Given the description of an element on the screen output the (x, y) to click on. 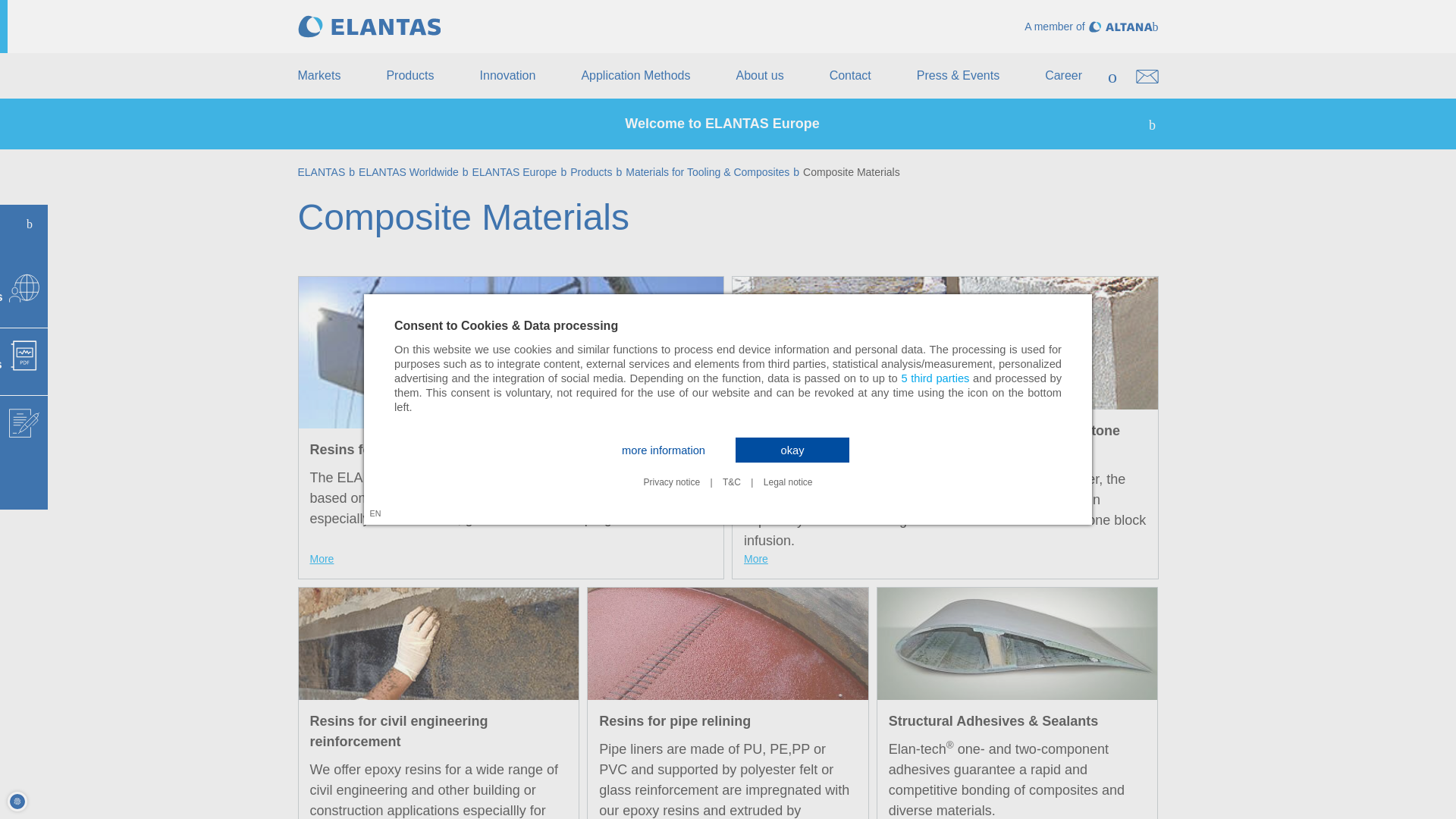
Career (1063, 75)
Contact (849, 75)
Application Methods (635, 75)
okay (791, 449)
Language: en (375, 512)
Focus on the global electrical and electronics industry (369, 26)
Language: en (375, 512)
Contact (849, 75)
A member of (1091, 26)
more information (663, 449)
About us (759, 75)
Markets (318, 75)
Innovation (507, 75)
About us (759, 75)
Legal notice (788, 482)
